Given the description of an element on the screen output the (x, y) to click on. 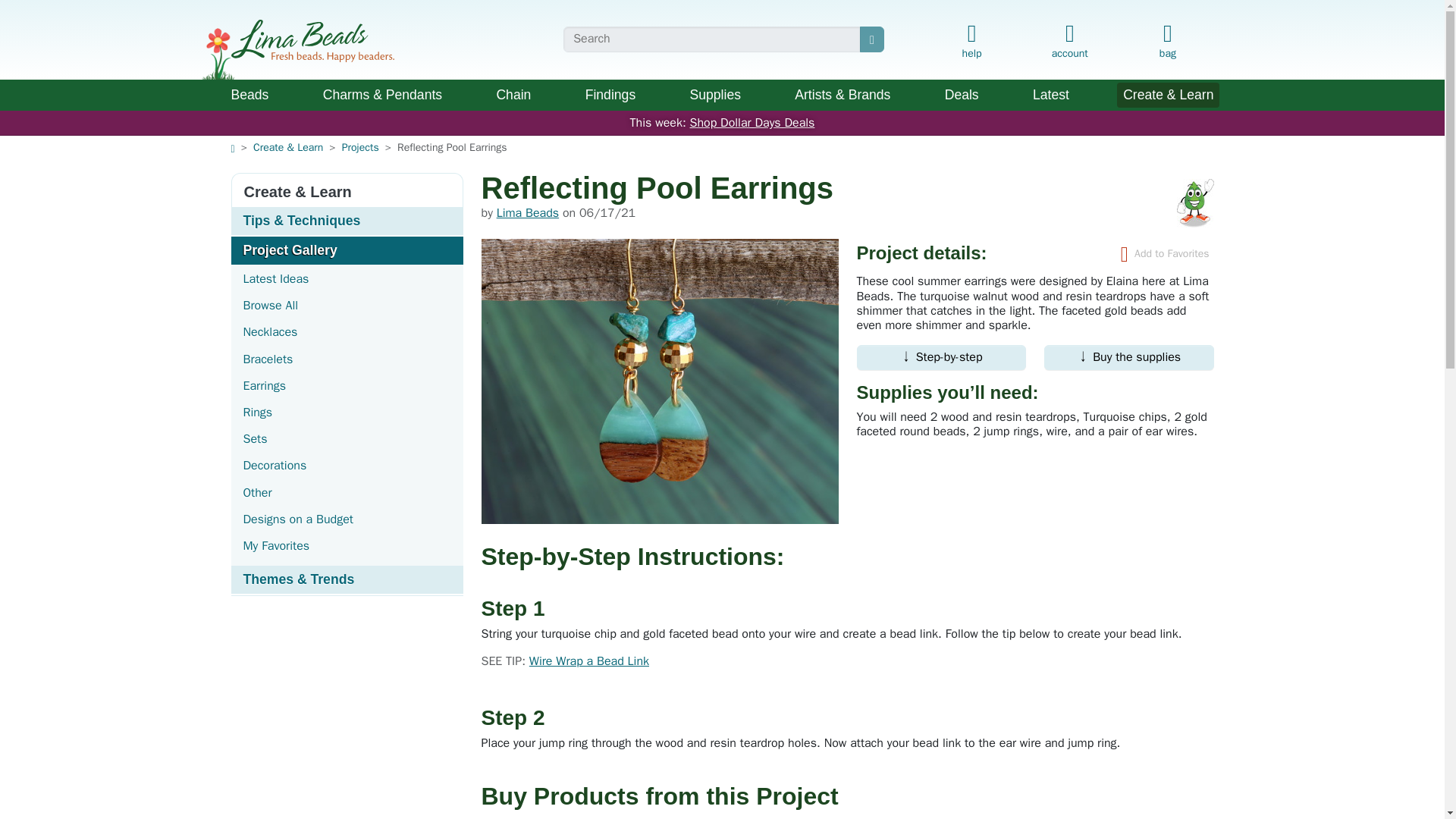
help (971, 42)
account (1069, 38)
Beads (249, 94)
bag (1166, 42)
